Given the description of an element on the screen output the (x, y) to click on. 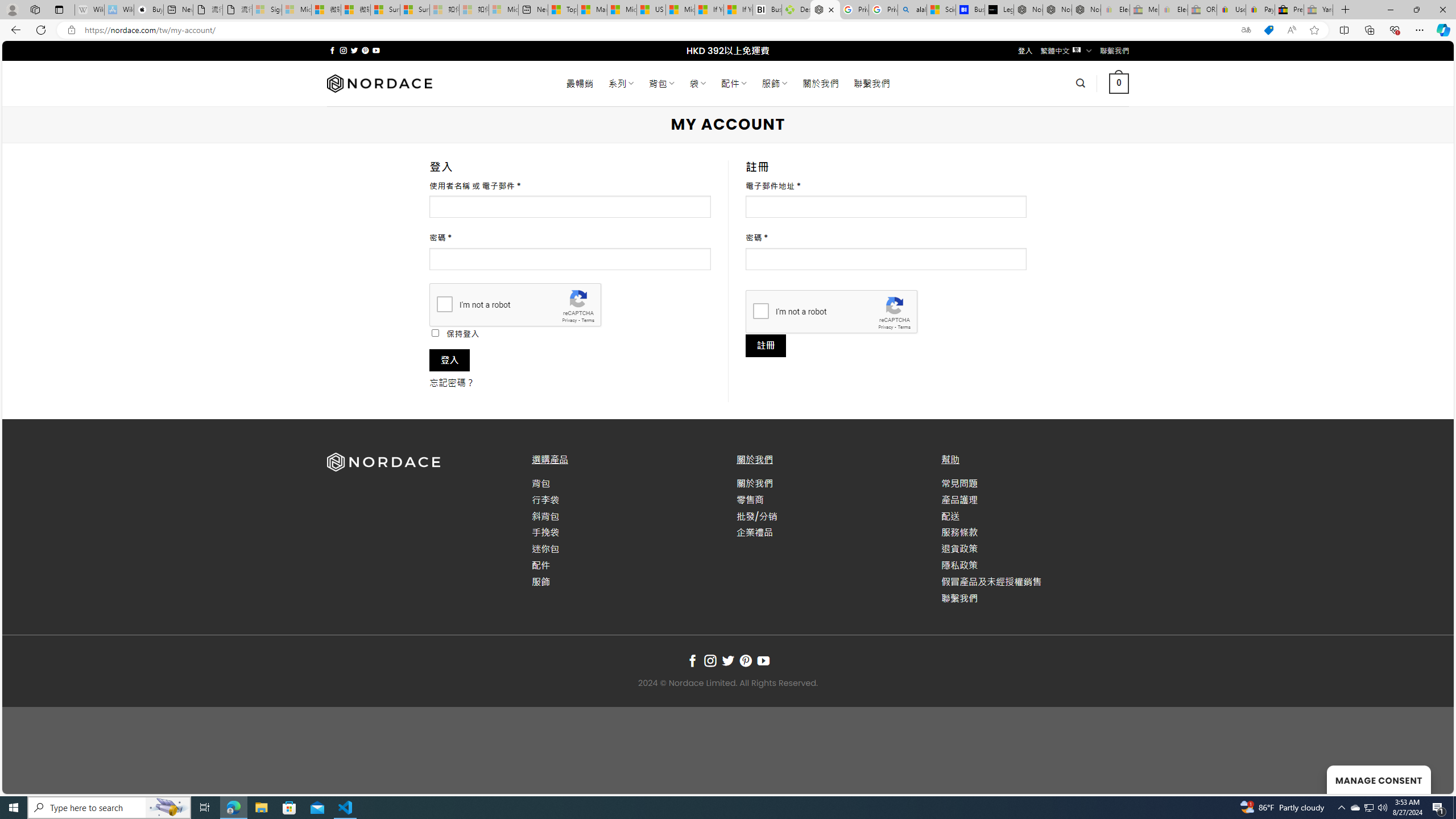
US Heat Deaths Soared To Record High Last Year (651, 9)
Top Stories - MSN (562, 9)
